Given the description of an element on the screen output the (x, y) to click on. 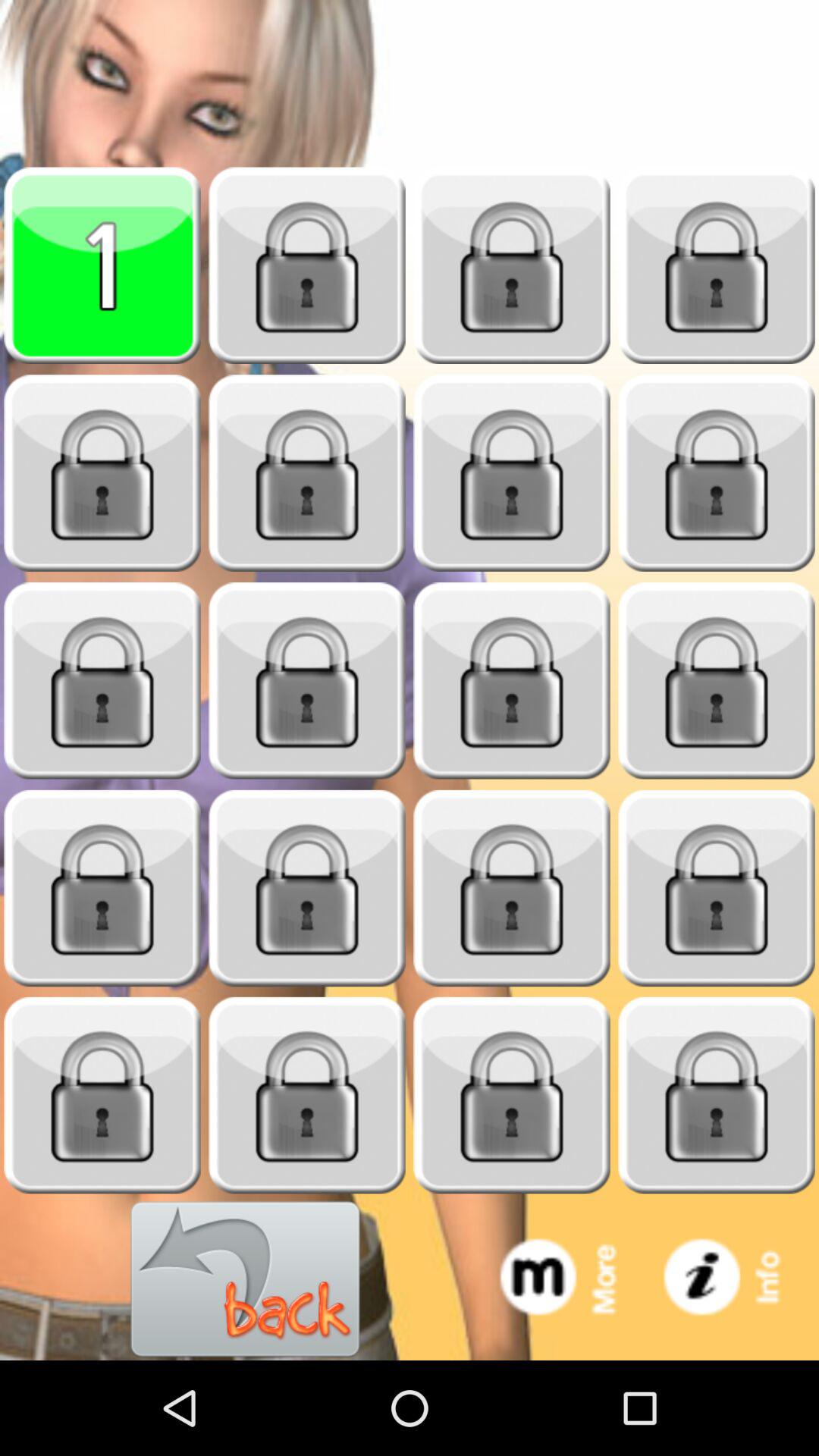
go back (245, 1279)
